Given the description of an element on the screen output the (x, y) to click on. 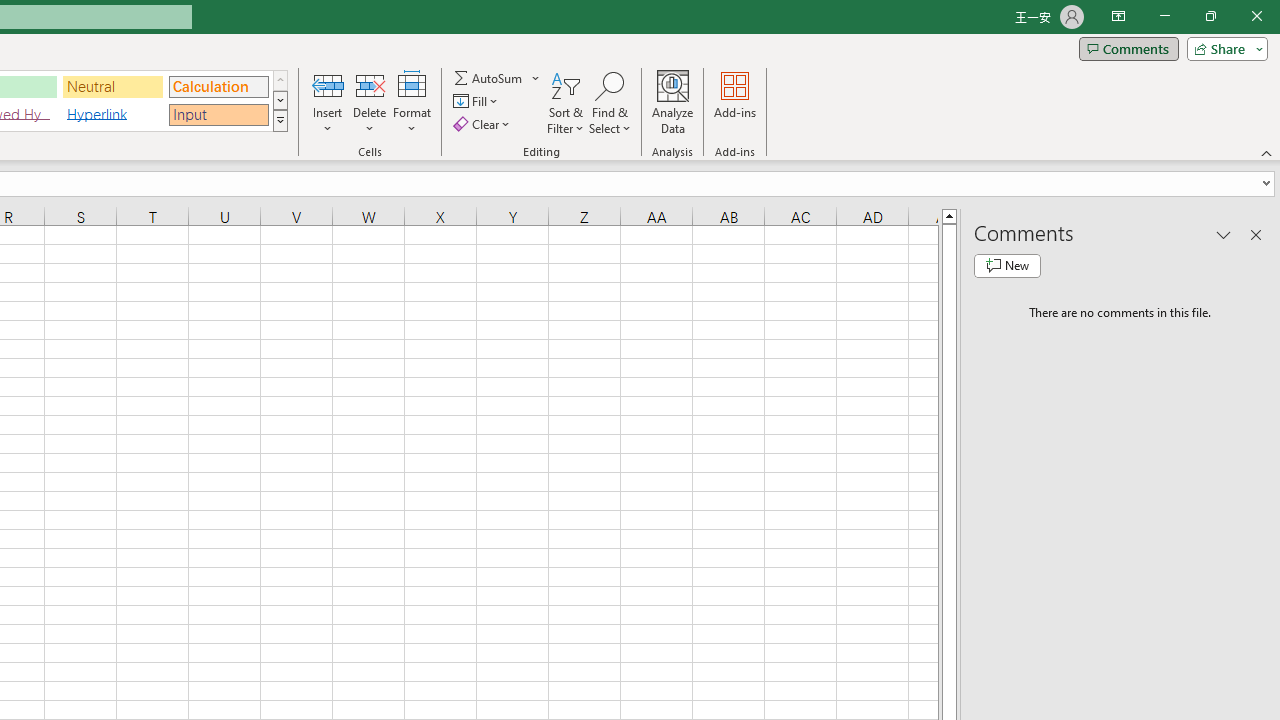
Format (411, 102)
Delete Cells... (369, 84)
